Given the description of an element on the screen output the (x, y) to click on. 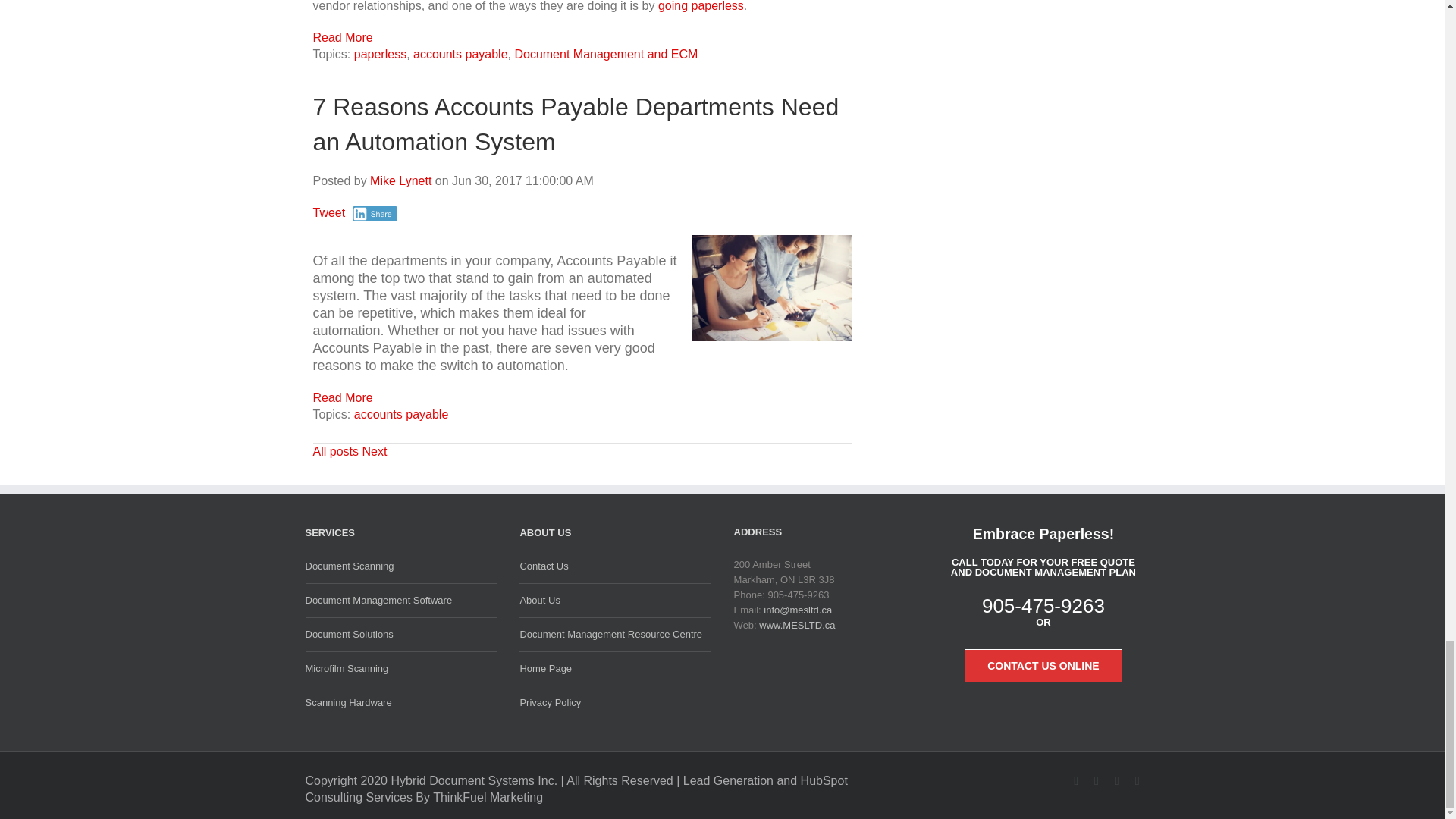
Twitter (1069, 780)
Youtube (1090, 780)
Linkedin (1130, 780)
